Given the description of an element on the screen output the (x, y) to click on. 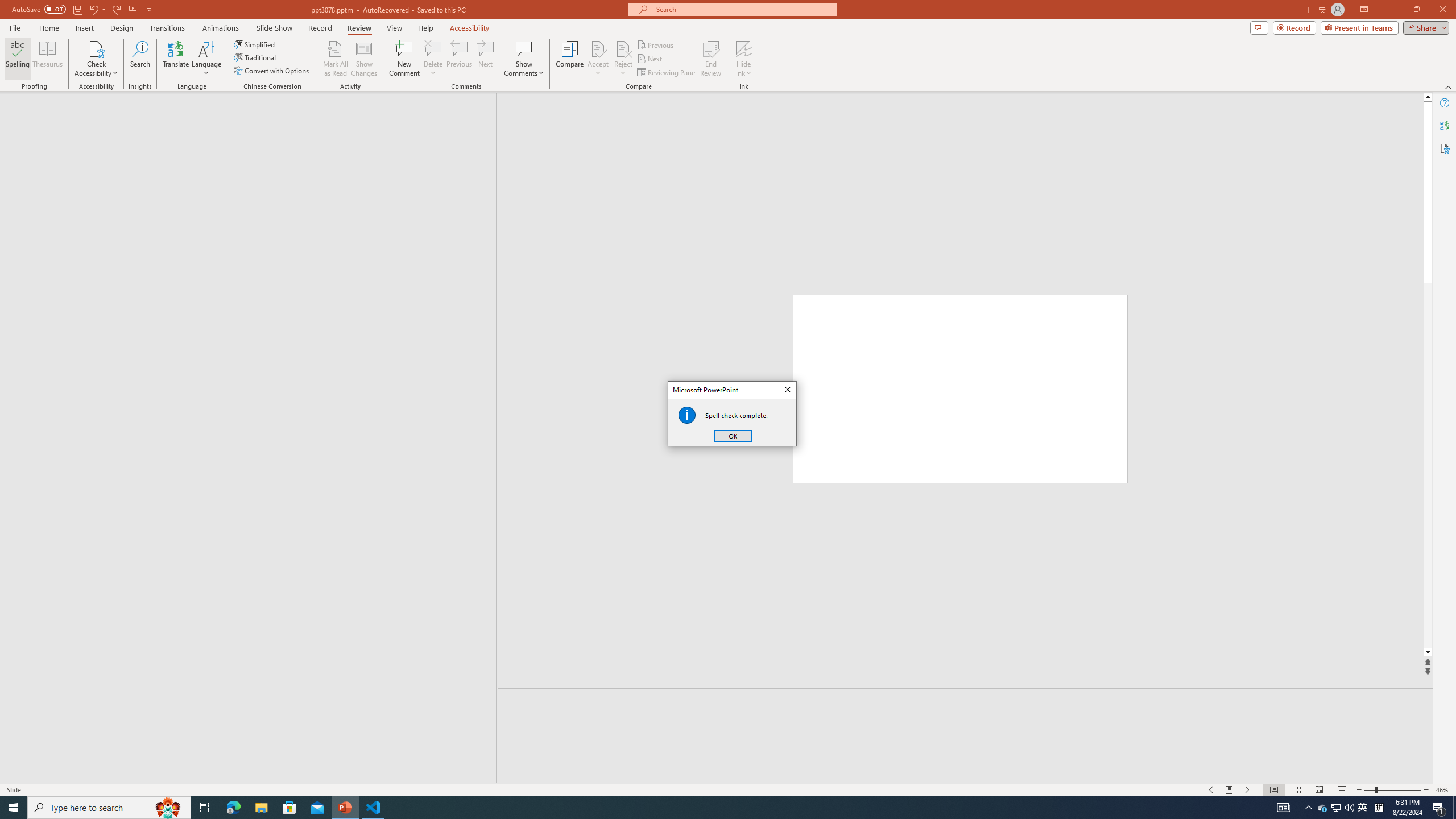
Animations (220, 28)
Show Changes (363, 58)
Language (206, 58)
Customize Quick Access Toolbar (1322, 807)
Delete (149, 9)
Minimize (432, 58)
Show Comments (1390, 9)
Slide Show Next On (524, 58)
Reject Change (1247, 790)
Check Accessibility (622, 48)
